Given the description of an element on the screen output the (x, y) to click on. 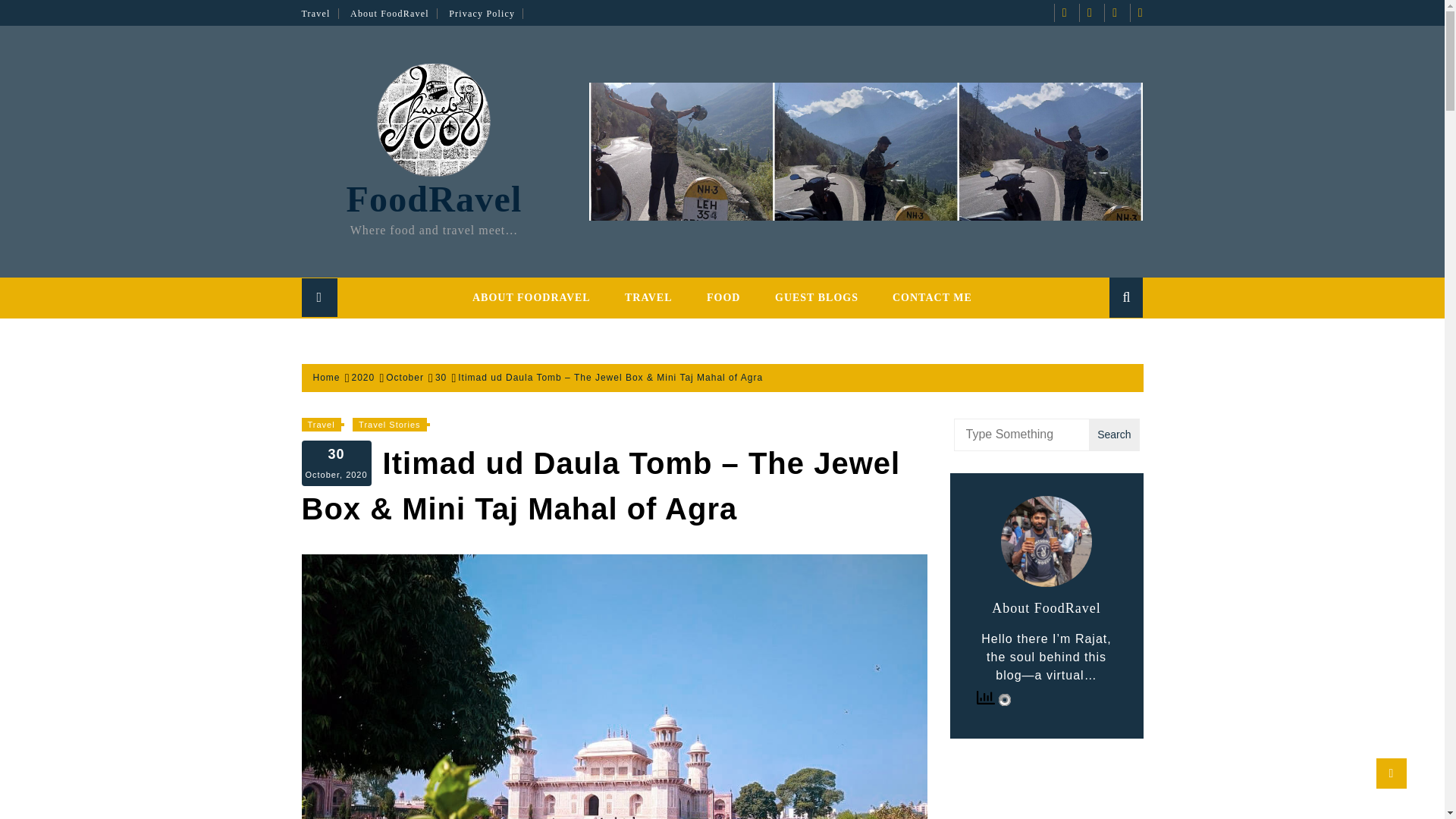
FoodRavel (433, 199)
ABOUT FOODRAVEL (531, 297)
TRAVEL (648, 297)
CONTACT ME (932, 297)
Home (326, 377)
30 (440, 377)
Travel (320, 424)
Travel Stories (389, 424)
About FoodRavel (394, 13)
Search (1113, 434)
Privacy Policy (485, 13)
Search (1104, 338)
October (404, 377)
FOOD (723, 297)
Travel (320, 13)
